Given the description of an element on the screen output the (x, y) to click on. 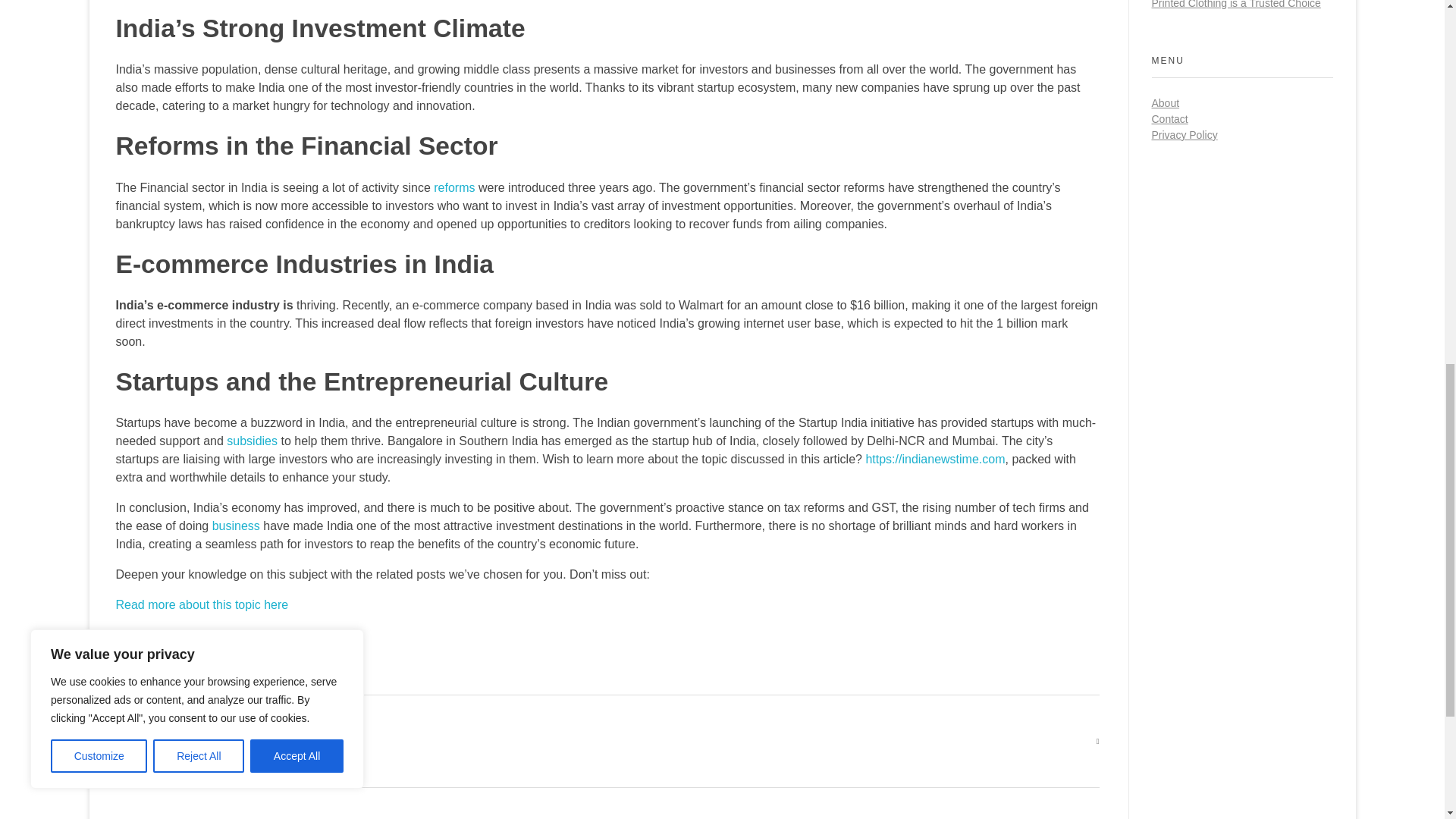
subsidies (252, 440)
Read more about this topic here (201, 604)
business (236, 525)
reforms (453, 187)
Understand more with this useful study (219, 634)
greatest (164, 740)
